Given the description of an element on the screen output the (x, y) to click on. 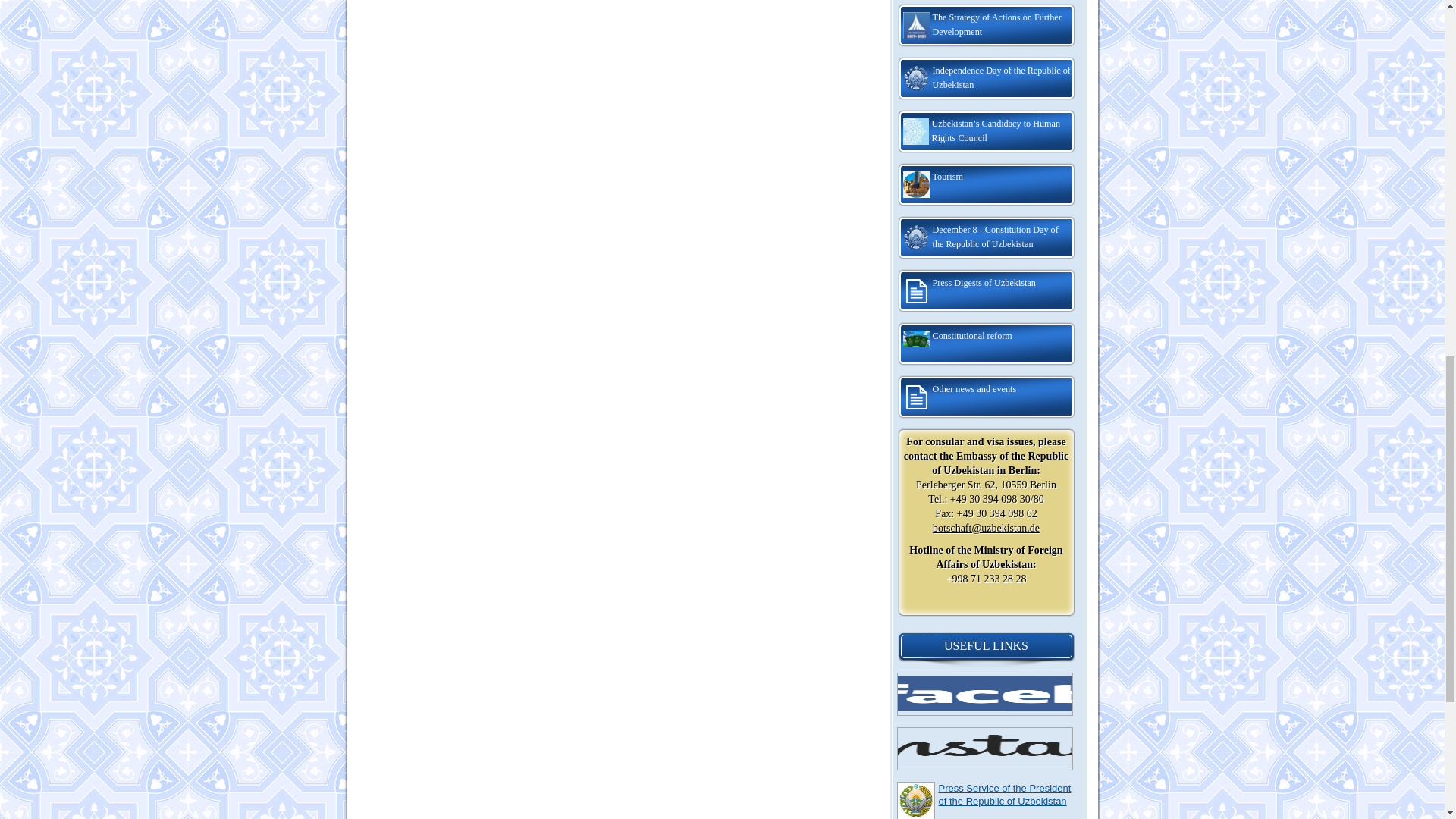
Other news and events (985, 397)
Independence Day of the Republic of Uzbekistan (985, 78)
Press Digests of Uzbekistan (985, 290)
Tourism (985, 185)
The Strategy of Actions on Further Development (985, 25)
Press Service of the President of the Republic of Uzbekistan (1005, 794)
December 8 - Constitution Day of the Republic of Uzbekistan (985, 238)
Constitutional reform (985, 343)
